Given the description of an element on the screen output the (x, y) to click on. 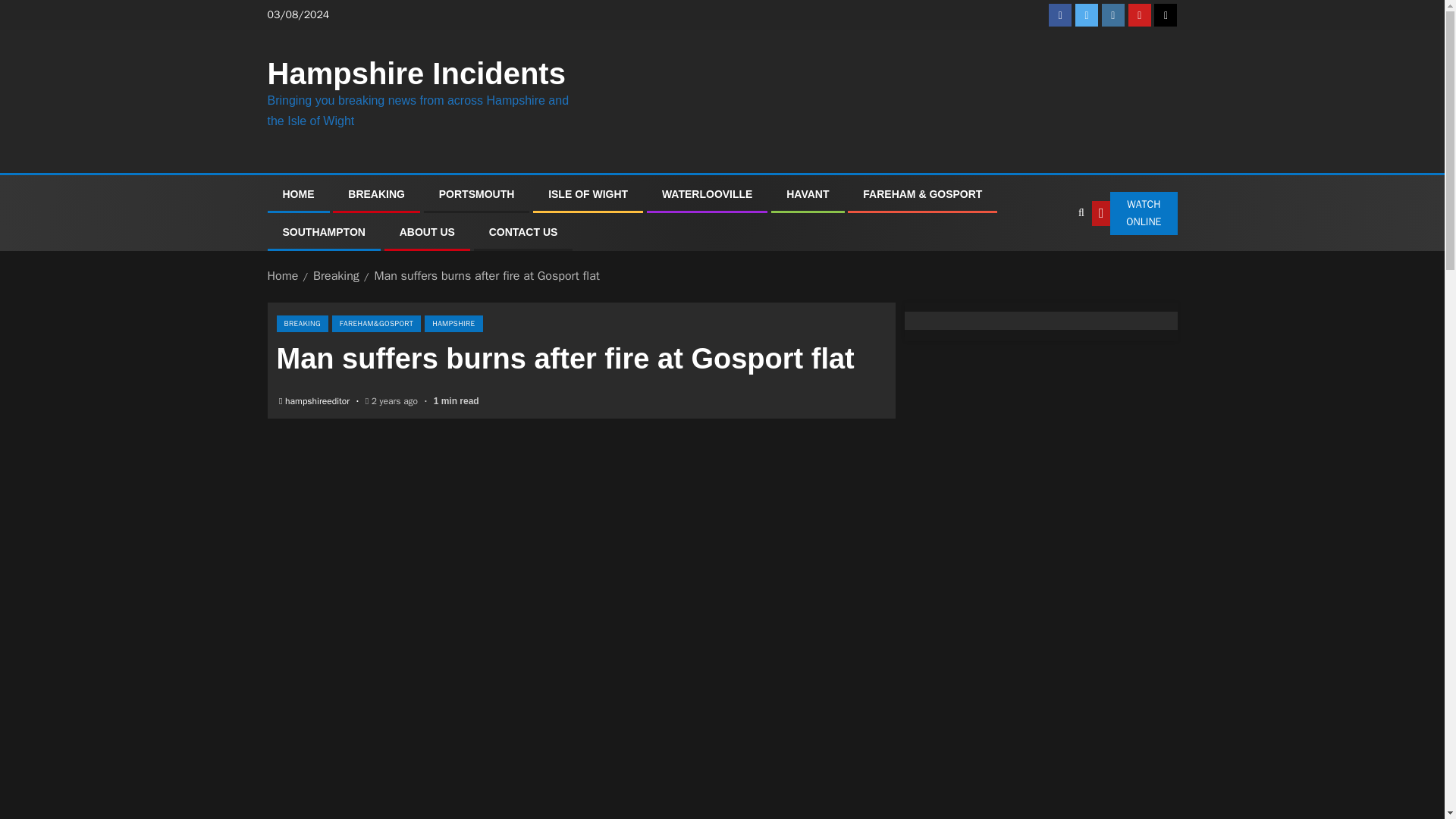
ABOUT US (426, 232)
Man suffers burns after fire at Gosport flat (486, 275)
Home (282, 275)
WATCH ONLINE (1134, 213)
HAMPSHIRE (453, 323)
Hampshire Incidents (415, 73)
BREAKING (375, 193)
PORTSMOUTH (477, 193)
hampshireeditor (318, 400)
Search (1049, 258)
WATERLOOVILLE (707, 193)
HAVANT (807, 193)
BREAKING (301, 323)
Breaking (336, 275)
HOME (298, 193)
